Given the description of an element on the screen output the (x, y) to click on. 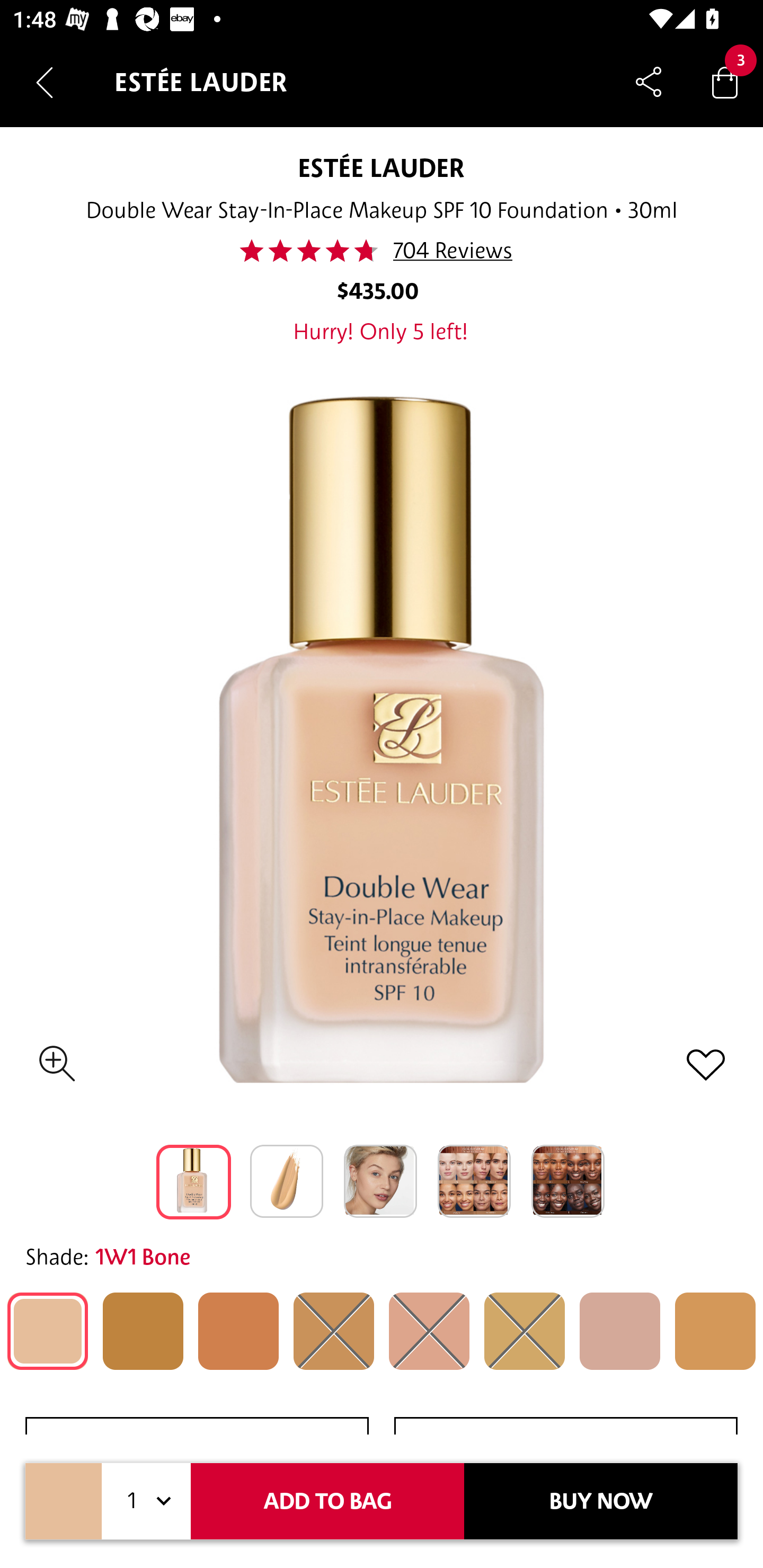
Navigate up (44, 82)
Share (648, 81)
Bag (724, 81)
ESTÉE LAUDER (380, 167)
47.0 704 Reviews (380, 250)
1 (145, 1500)
ADD TO BAG (326, 1500)
BUY NOW (600, 1500)
